Given the description of an element on the screen output the (x, y) to click on. 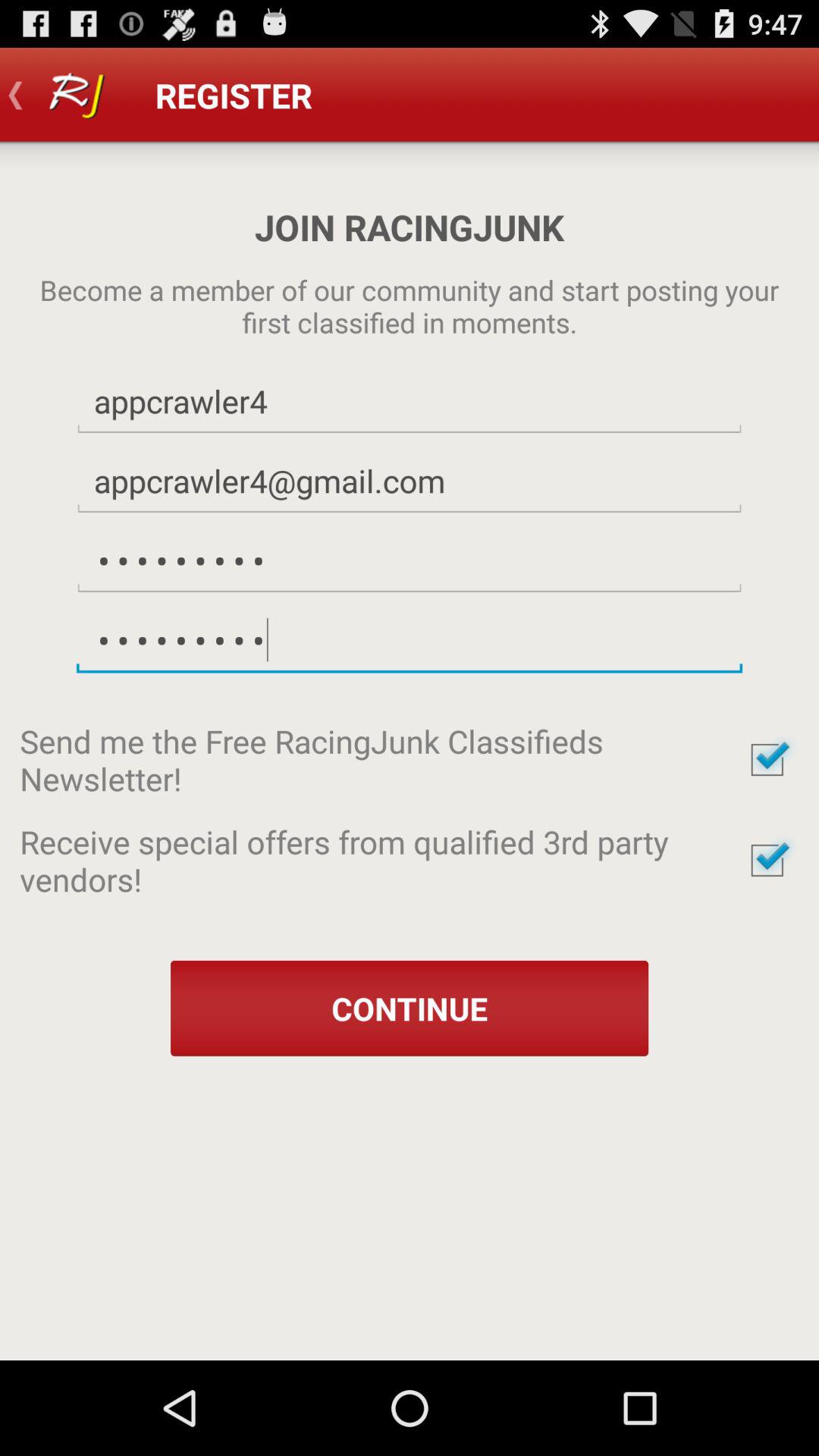
accept newsletter sign-up (767, 759)
